Given the description of an element on the screen output the (x, y) to click on. 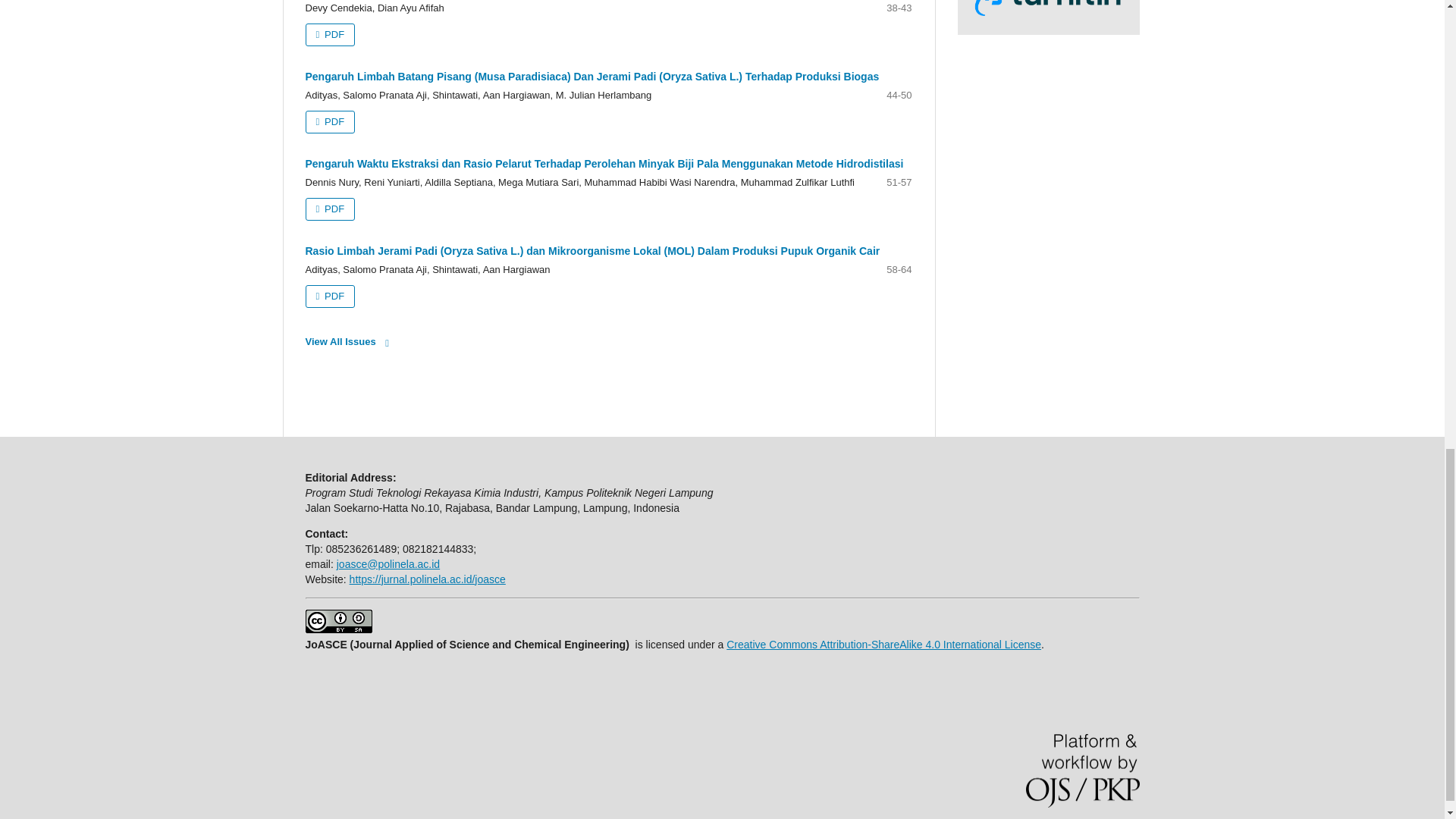
PDF (329, 296)
PDF (329, 121)
PDF (329, 209)
PDF (329, 34)
